Given the description of an element on the screen output the (x, y) to click on. 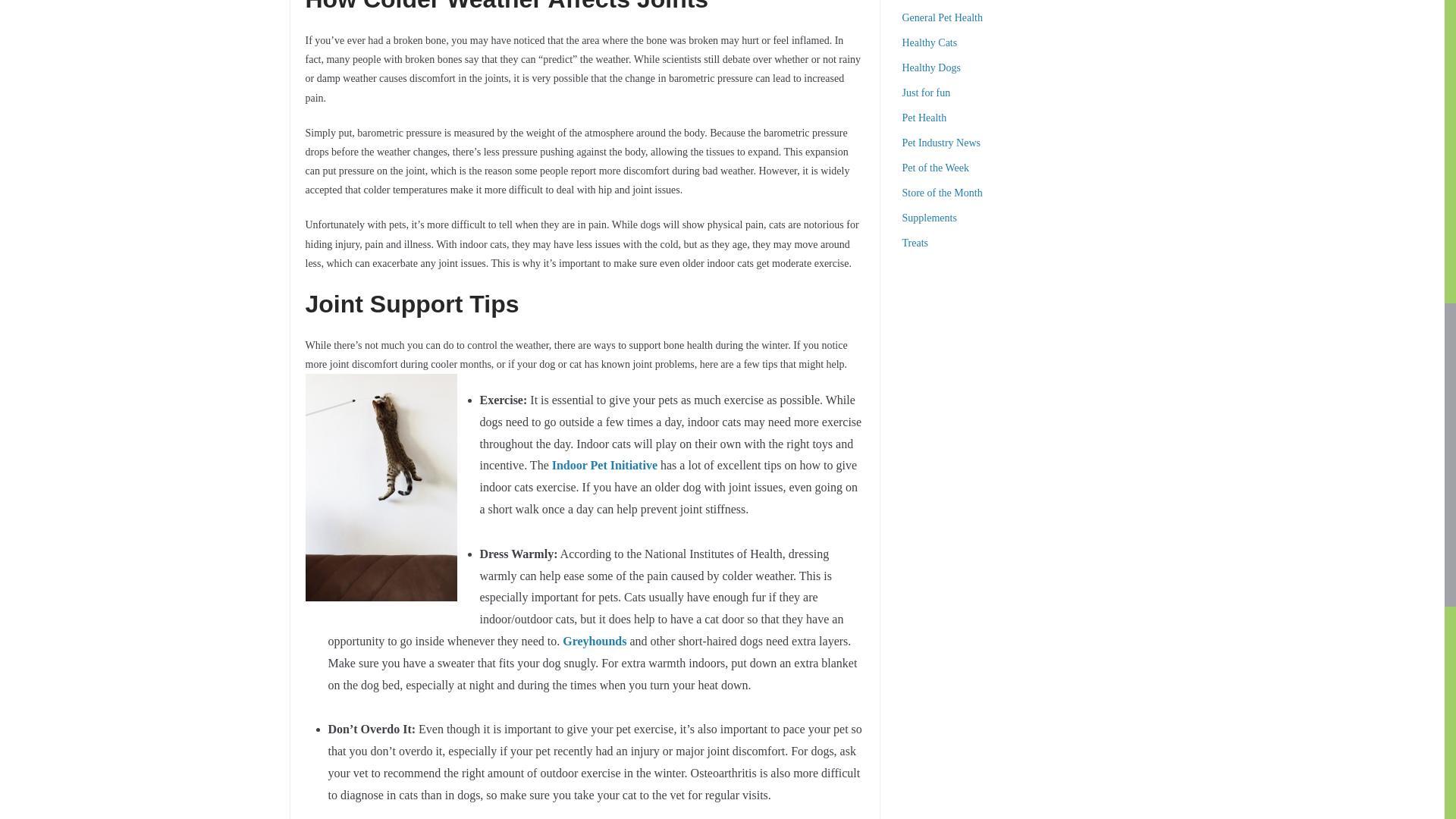
Healthy Dogs (931, 67)
Indoor Pet Initiative (604, 464)
Healthy Cats (930, 42)
Just for fun (926, 92)
Greyhounds (594, 640)
General Pet Health (943, 17)
